Given the description of an element on the screen output the (x, y) to click on. 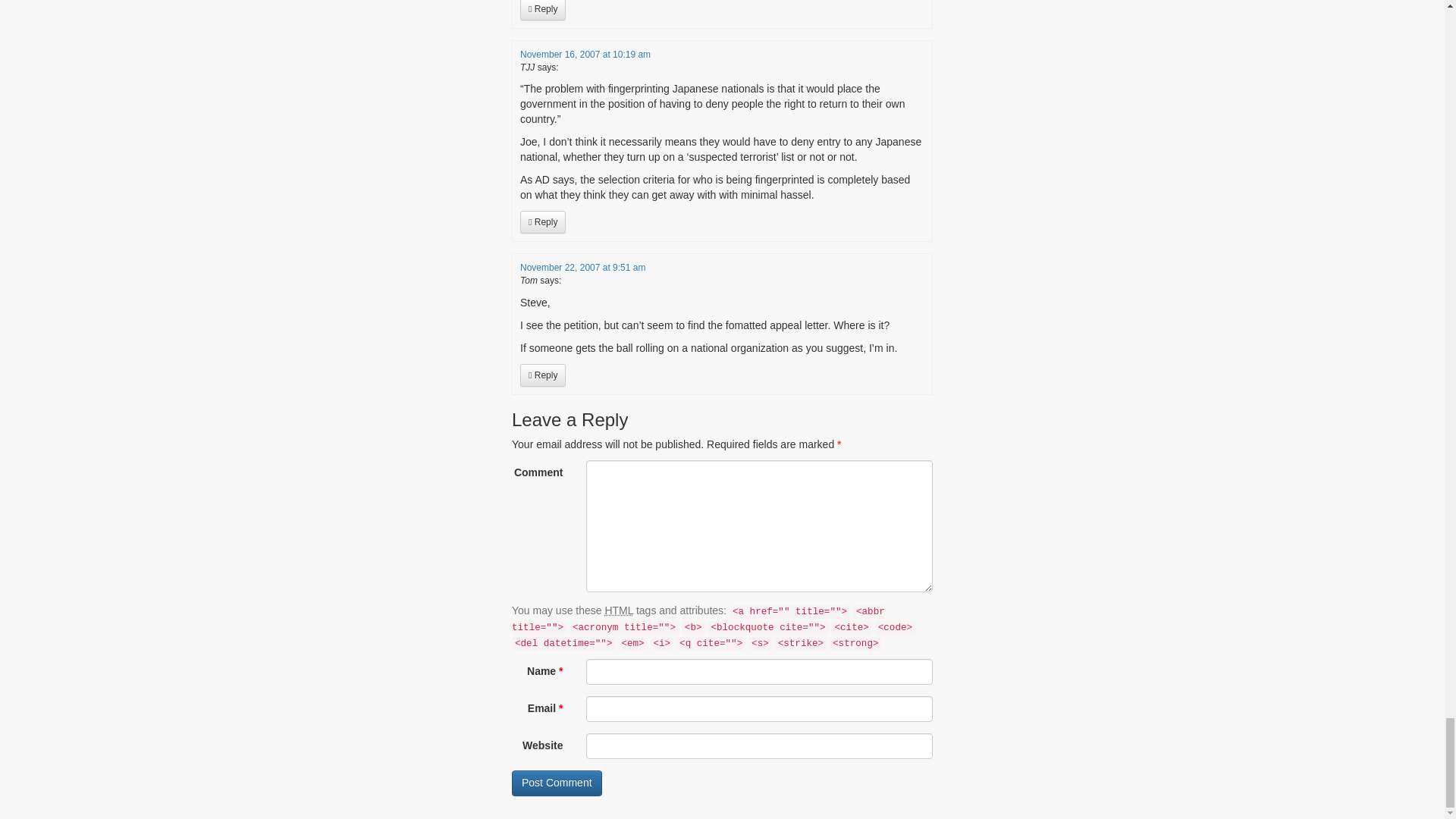
HyperText Markup Language (618, 610)
Post Comment (557, 783)
